Given the description of an element on the screen output the (x, y) to click on. 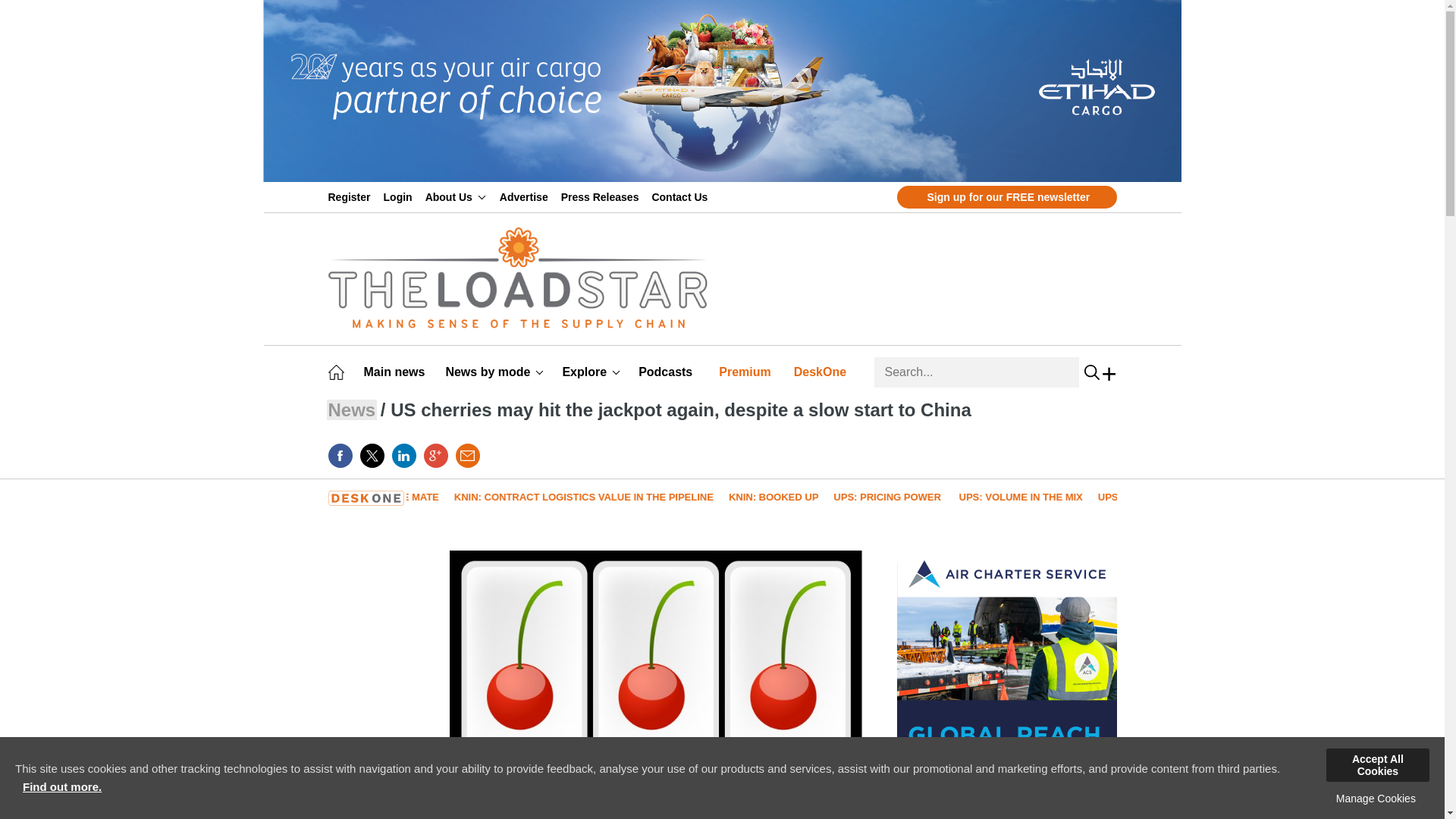
News by mode (494, 371)
About Us (455, 196)
Login (400, 196)
DeskOne (822, 371)
Podcasts (668, 371)
Explore (591, 371)
Contact Us (681, 196)
Register (351, 196)
Register (351, 196)
Contact Us (681, 196)
Login (400, 196)
About Us (455, 196)
Sign up for our FREE newsletter (1006, 196)
Main news (397, 371)
Podcasts (668, 371)
